Given the description of an element on the screen output the (x, y) to click on. 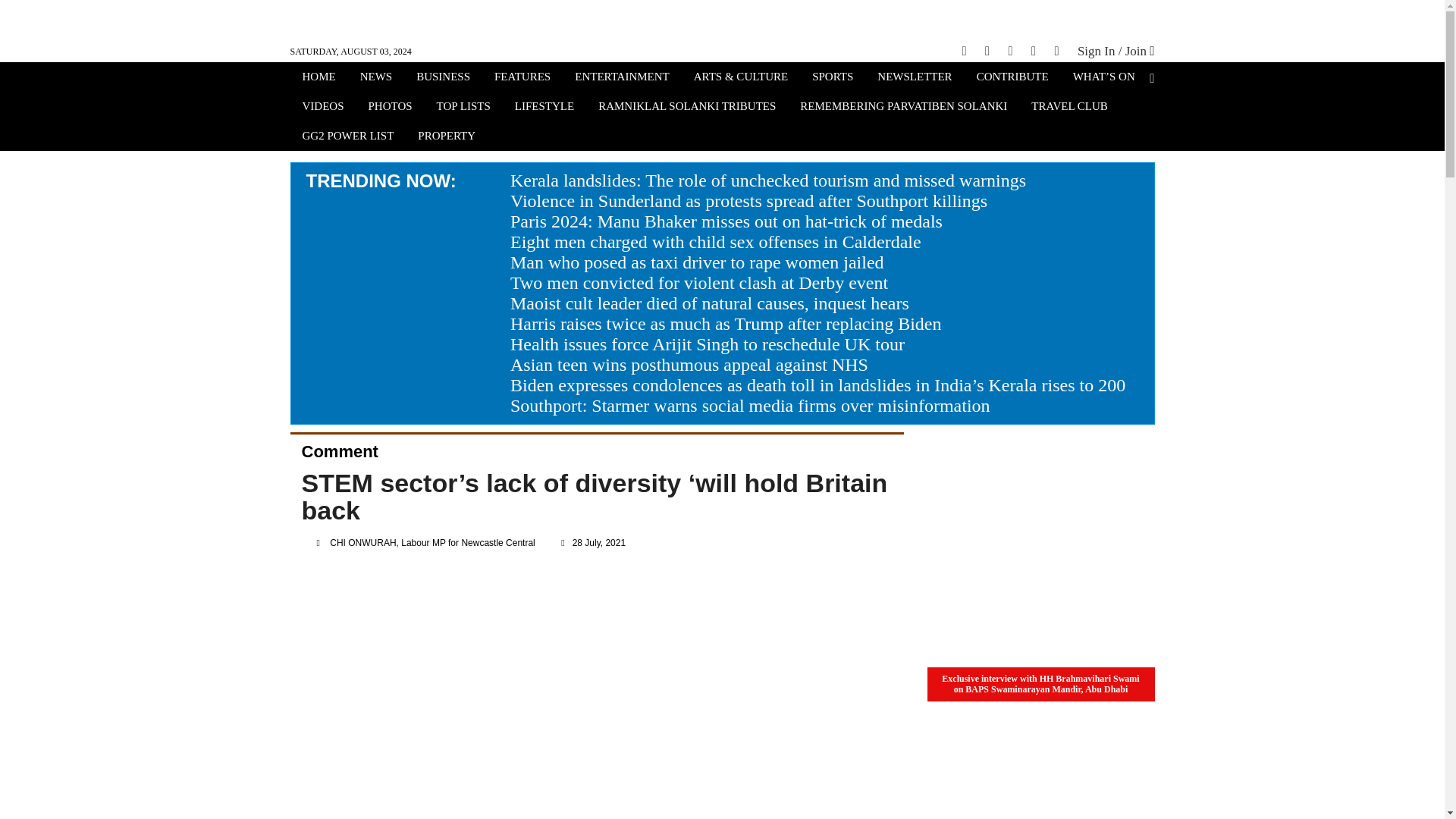
NEWSLETTER (914, 78)
CONTRIBUTE (1012, 78)
Harris raises twice as much as Trump after replacing Biden (726, 323)
PHOTOS (390, 108)
Maoist cult leader died of natural causes, inquest hears (709, 302)
FEATURES (521, 78)
NEWS (375, 78)
GG2 POWER LIST (346, 137)
Paris 2024: Manu Bhaker misses out on hat-trick of medals (726, 220)
